Given the description of an element on the screen output the (x, y) to click on. 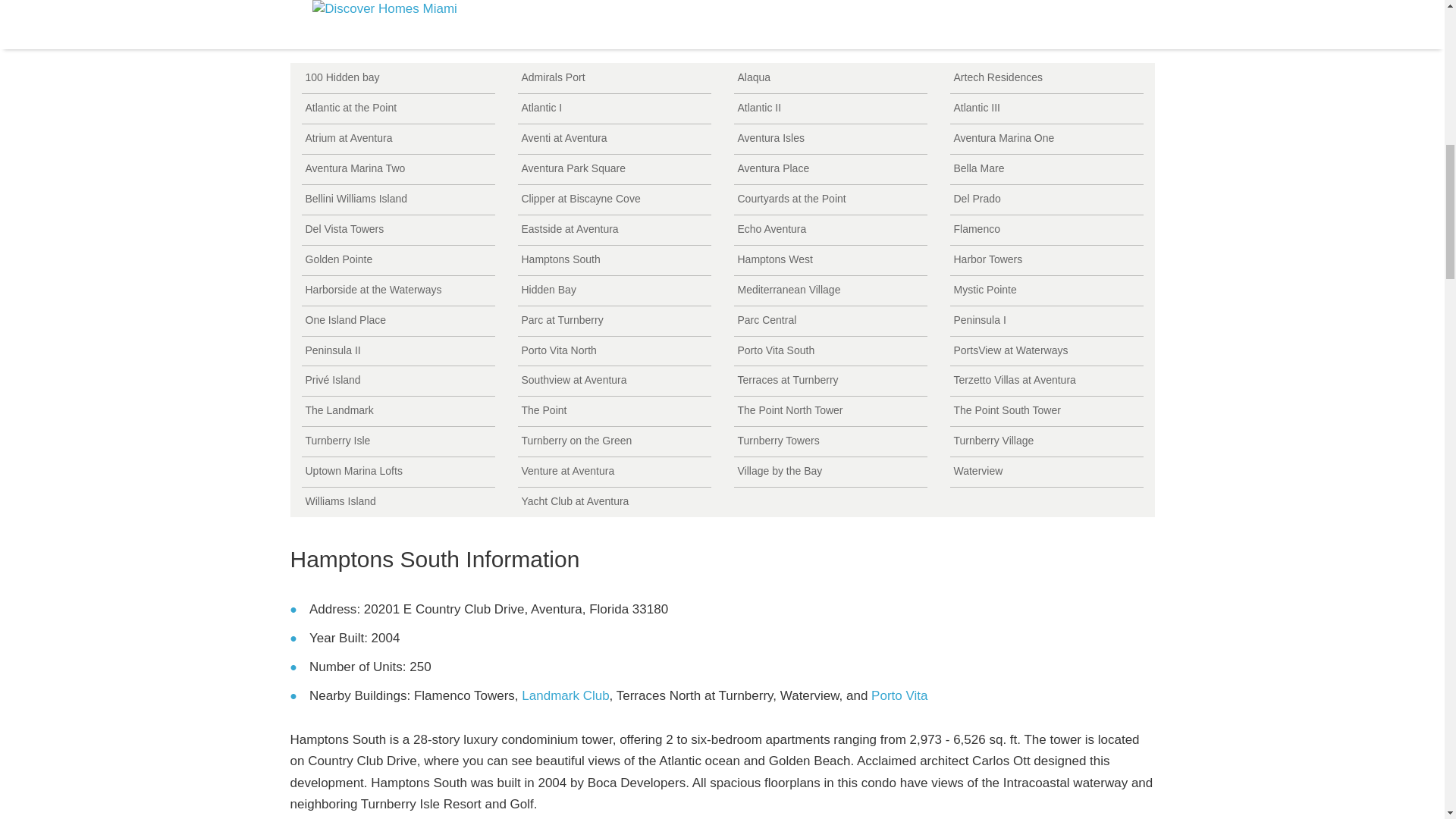
View Atlantic at the Point (398, 108)
View Atlantic II (830, 108)
View 100 Hidden bay (398, 78)
View Atlantic I (613, 108)
View Alaqua (830, 78)
View Admirals Port (613, 78)
View Artech Residences (1045, 78)
